Given the description of an element on the screen output the (x, y) to click on. 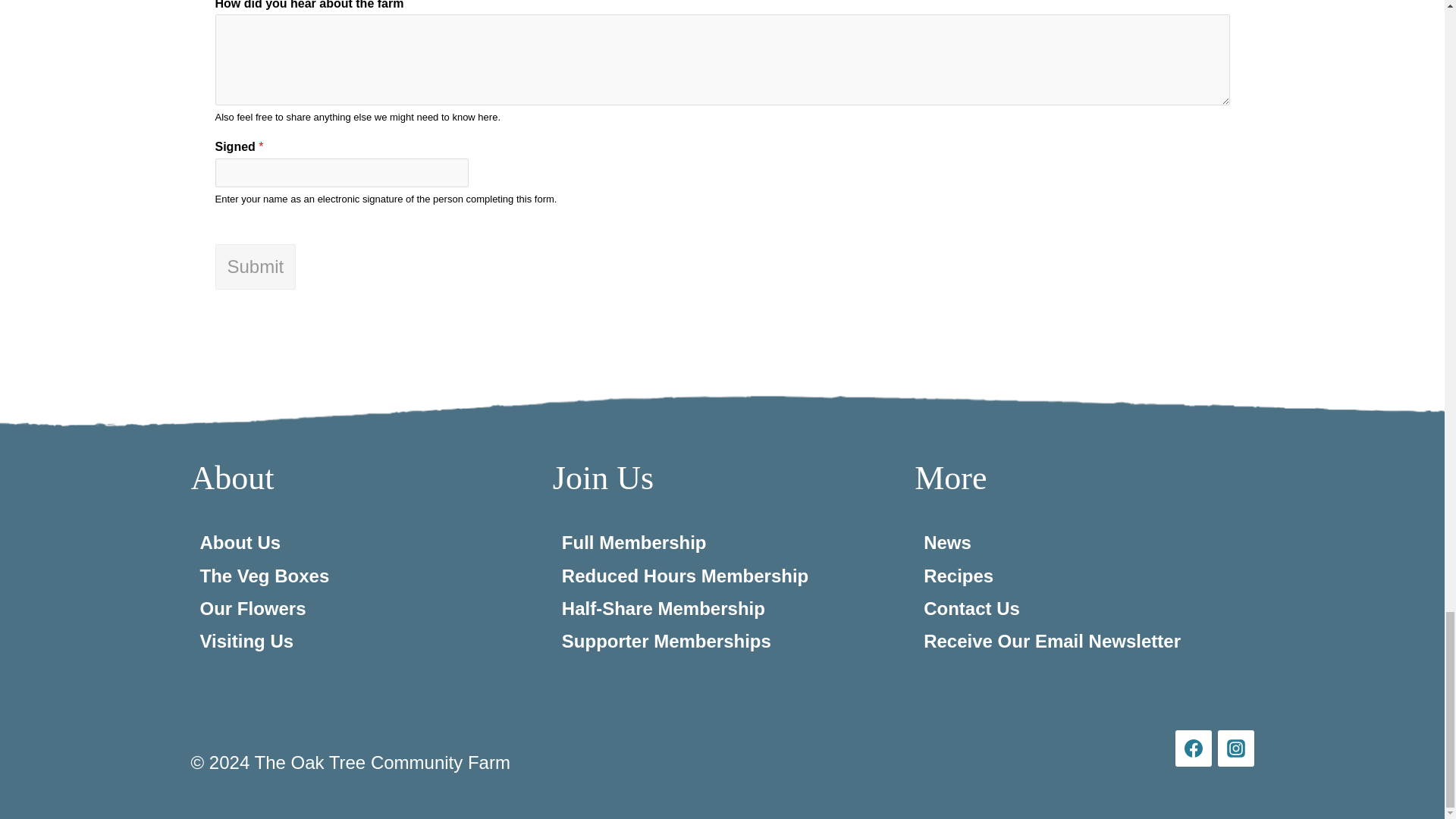
Supporter Memberships (666, 640)
The Veg Boxes (265, 575)
Half-Share Membership (663, 608)
News (947, 542)
About Us (240, 542)
Full Membership (634, 542)
Visiting Us (247, 640)
Submit (256, 266)
Reduced Hours Membership (685, 575)
Our Flowers (252, 608)
Recipes (957, 575)
Contact Us (971, 608)
Receive Our Email Newsletter (1051, 640)
